Given the description of an element on the screen output the (x, y) to click on. 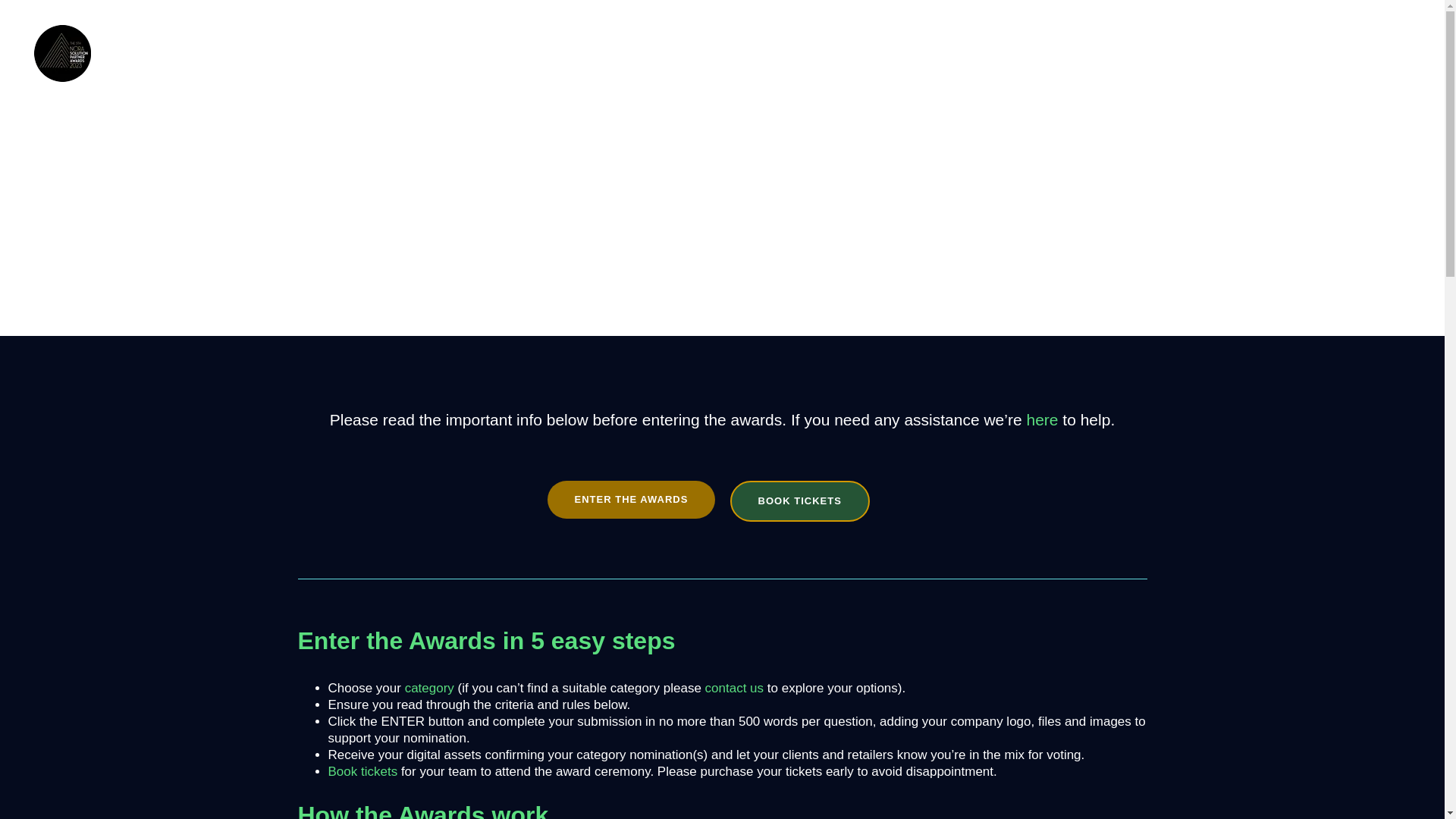
here Element type: text (1041, 419)
category Element type: text (429, 687)
HOME Element type: text (391, 53)
INFO & FAQ Element type: text (489, 53)
CATEGORIES Element type: text (607, 53)
contact us Element type: text (734, 687)
PARTNERSHIPS Element type: text (890, 53)
Book tickets Element type: text (362, 771)
BOOK TICKETS Element type: text (799, 501)
ENTER THE AWARDS Element type: text (630, 499)
CONTACT Element type: text (1009, 53)
AWARDS EVENING Element type: text (745, 53)
BOOK TICKETS Element type: text (1336, 53)
